Given the description of an element on the screen output the (x, y) to click on. 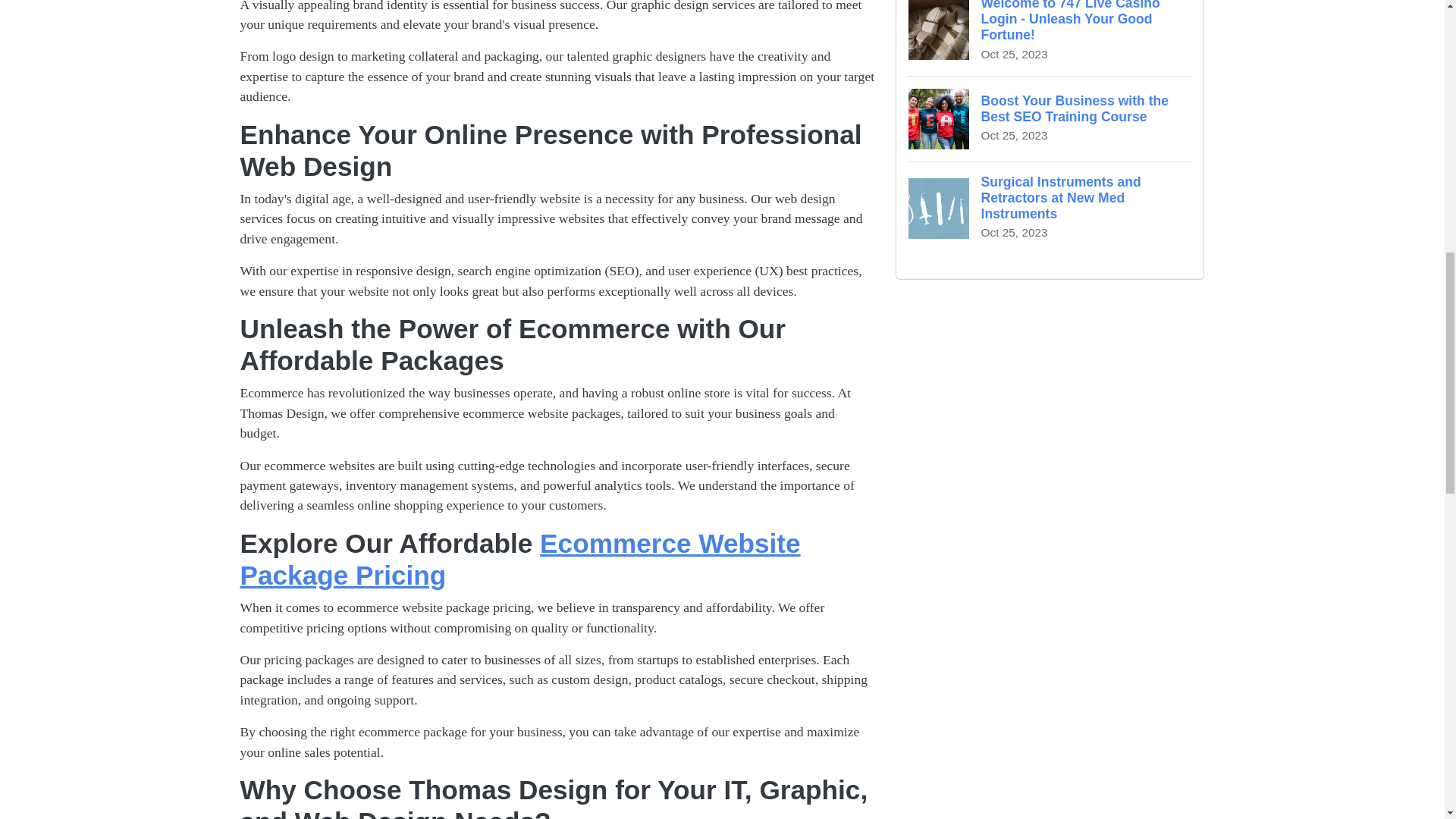
Ecommerce Website Package Pricing (519, 558)
